Given the description of an element on the screen output the (x, y) to click on. 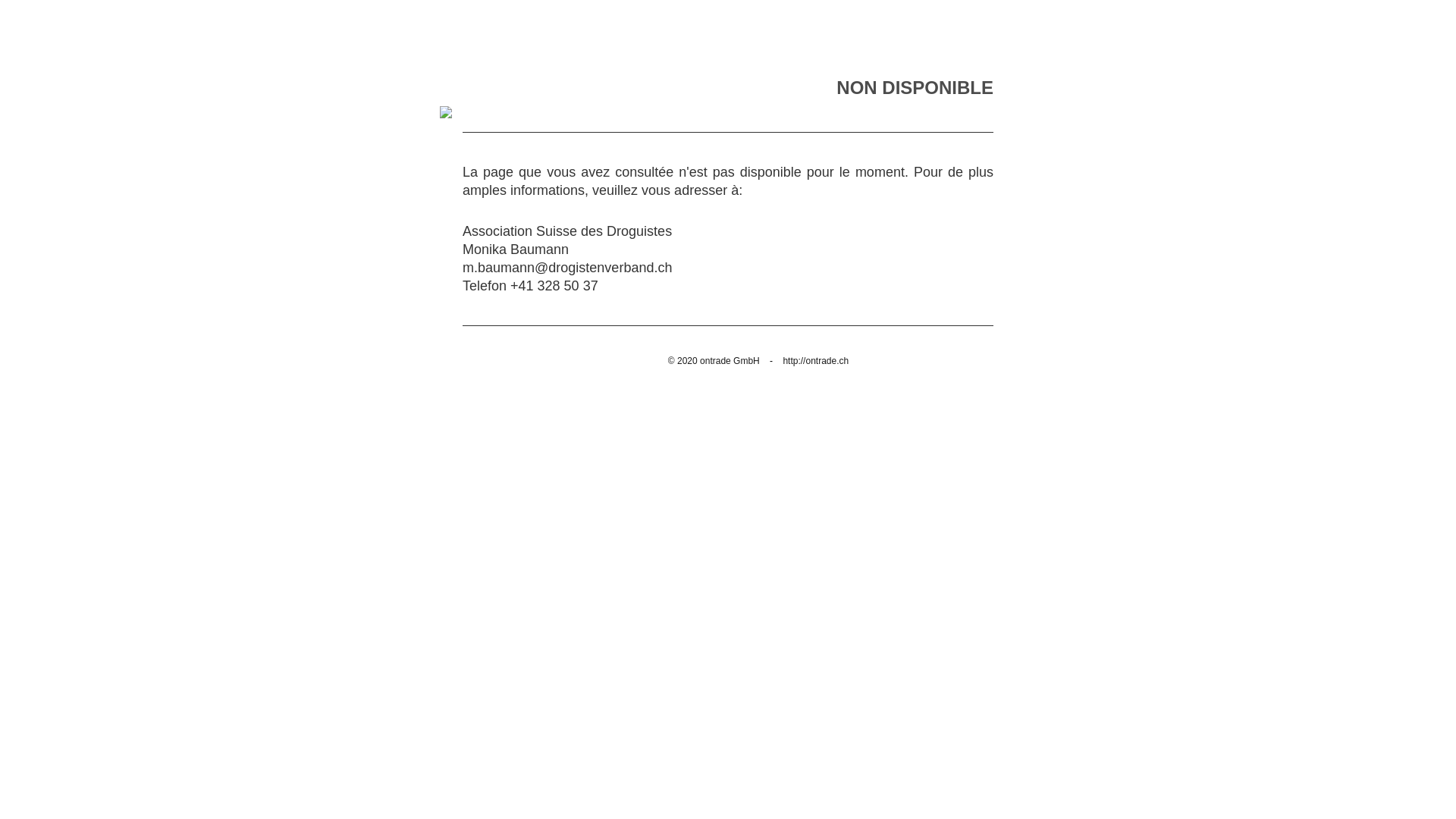
http://ontrade.ch Element type: text (815, 360)
